Given the description of an element on the screen output the (x, y) to click on. 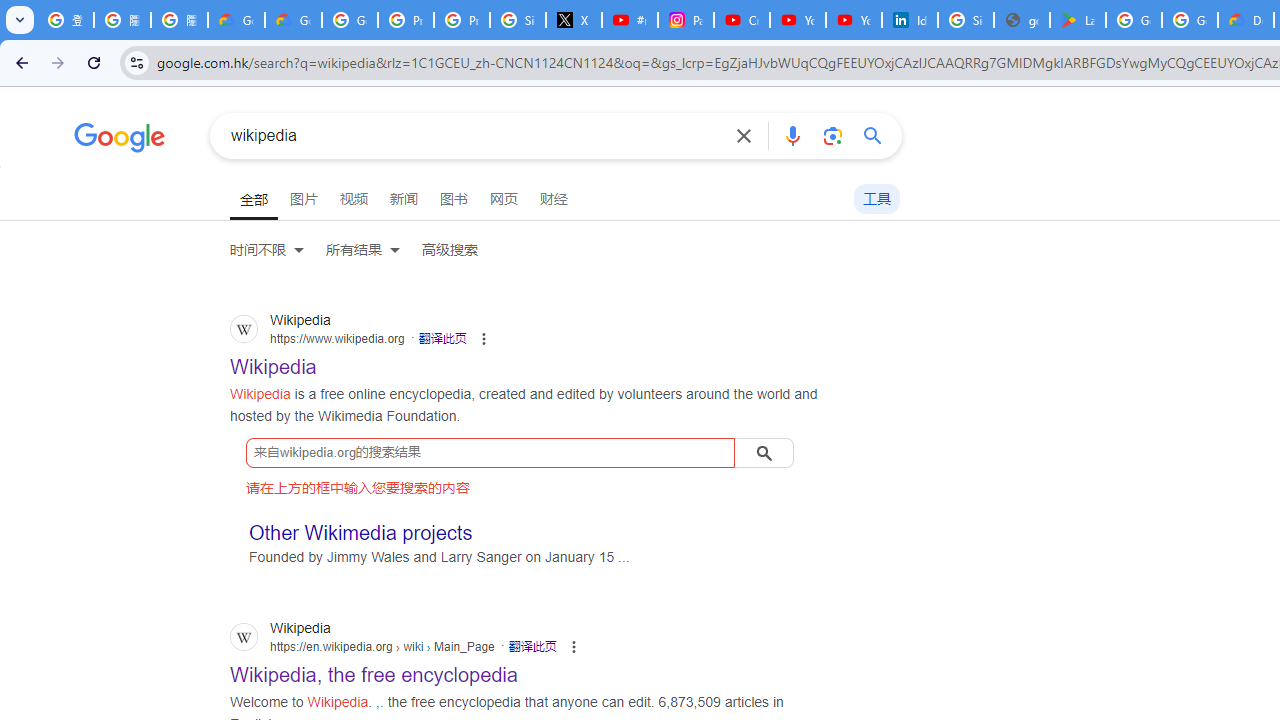
X (573, 20)
#nbabasketballhighlights - YouTube (629, 20)
Google Cloud Privacy Notice (235, 20)
